Given the description of an element on the screen output the (x, y) to click on. 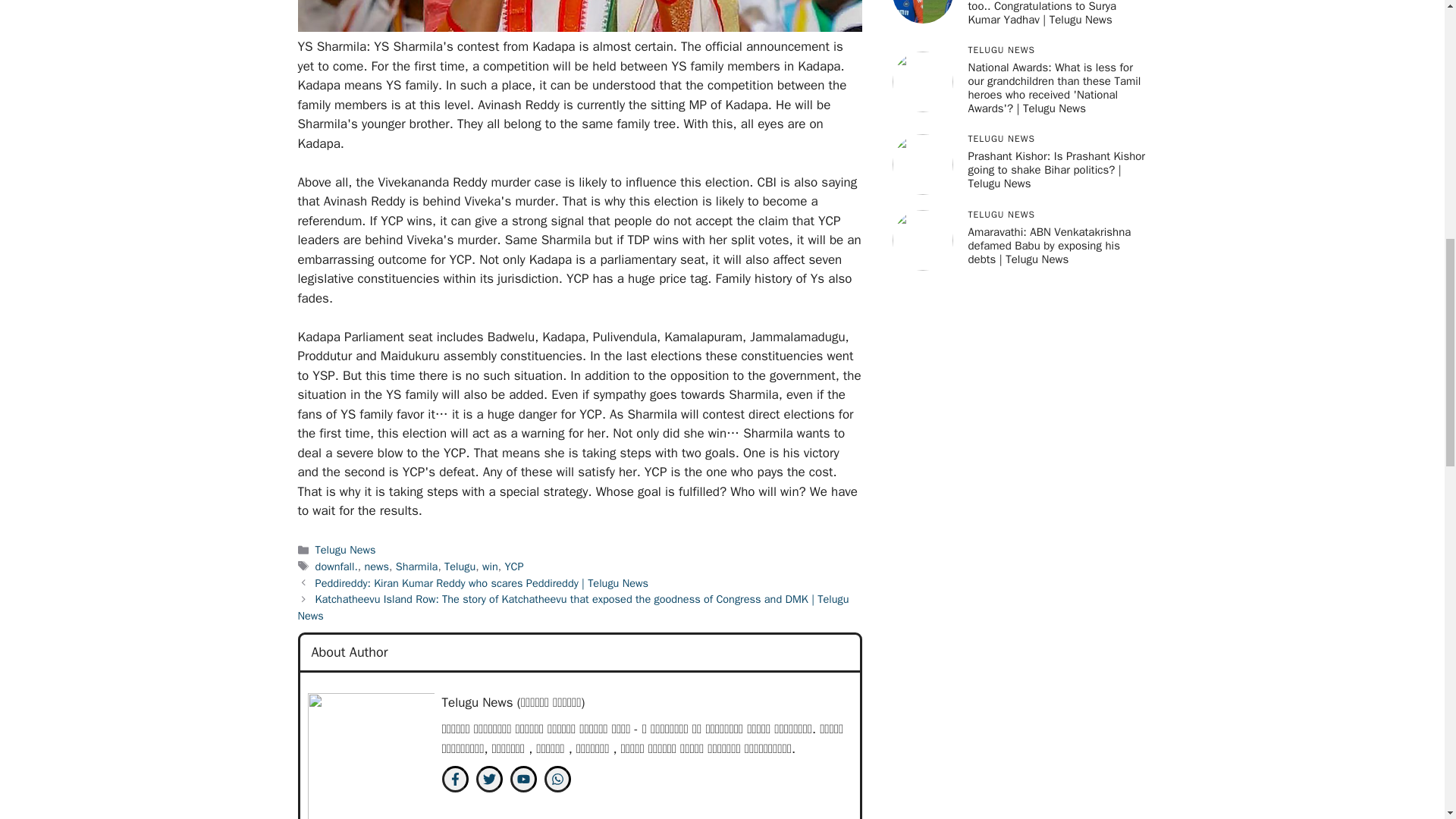
Telugu News (345, 549)
YCP (512, 566)
Scroll back to top (1406, 720)
Sharmila (417, 566)
downfall. (336, 566)
Telugu (460, 566)
unnamed (370, 755)
win (489, 566)
news (376, 566)
